Given the description of an element on the screen output the (x, y) to click on. 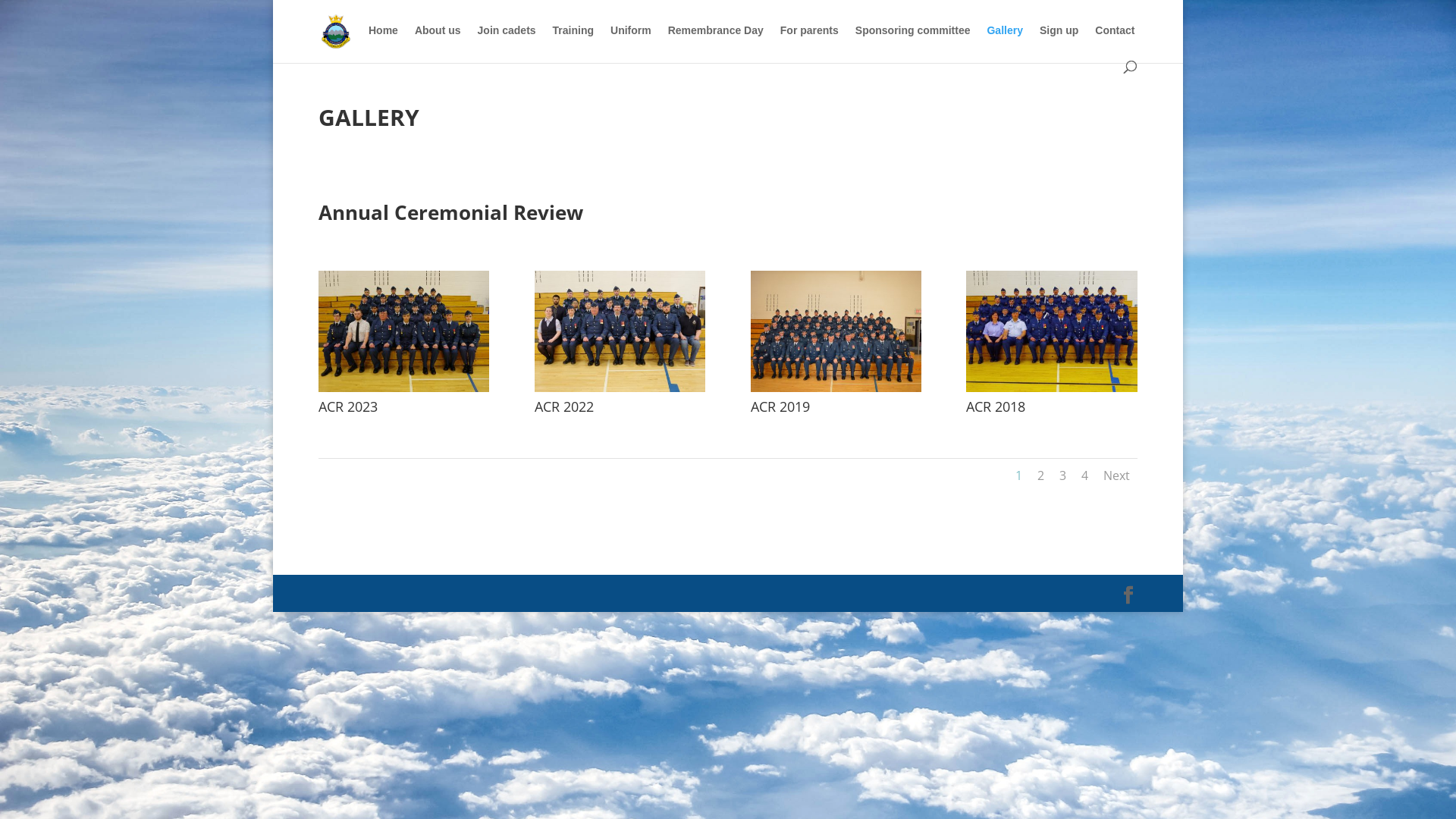
Gallery Element type: text (1004, 42)
Contact Element type: text (1114, 42)
4 Element type: text (1084, 475)
ACR 2018 Element type: hover (1051, 387)
Uniform Element type: text (630, 42)
ACR 2023 Element type: hover (403, 387)
ACR 2019 Element type: hover (835, 387)
Home Element type: text (383, 42)
Next Element type: text (1116, 475)
2 Element type: text (1040, 475)
For parents Element type: text (809, 42)
Remembrance Day Element type: text (715, 42)
Join cadets Element type: text (506, 42)
Training Element type: text (572, 42)
1 Element type: text (1018, 475)
Sign up Element type: text (1058, 42)
3 Element type: text (1062, 475)
Sponsoring committee Element type: text (912, 42)
About us Element type: text (437, 42)
ACR 2022 Element type: hover (619, 387)
